Given the description of an element on the screen output the (x, y) to click on. 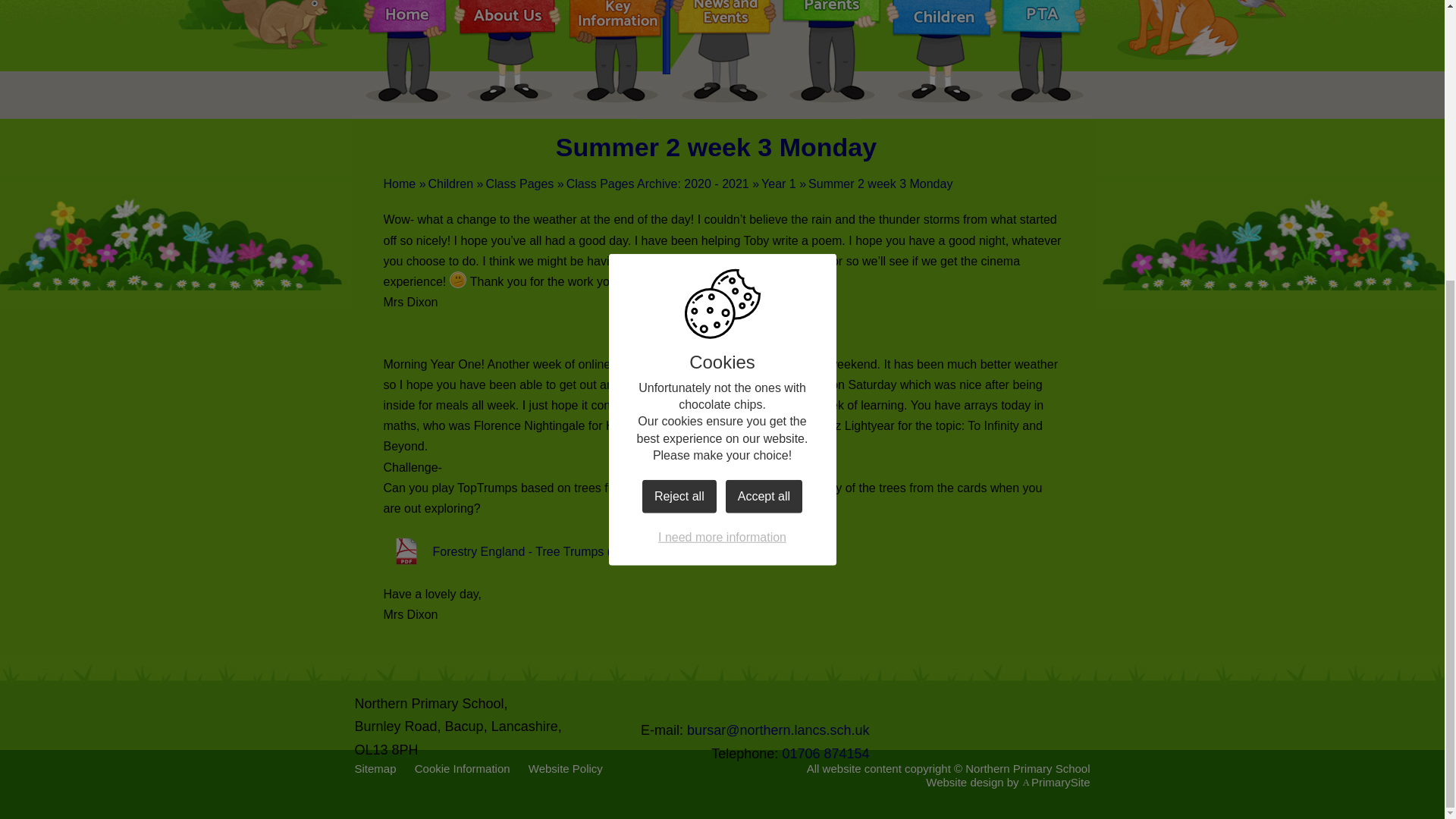
Key Information (618, 13)
Class Pages (518, 183)
Class Pages Archive: 2020 - 2021 (657, 183)
Summer 2 week 3 Monday (880, 183)
About Us (506, 13)
frown (458, 280)
Home (400, 183)
Home (407, 13)
Children (451, 183)
Year 1 (778, 183)
